Given the description of an element on the screen output the (x, y) to click on. 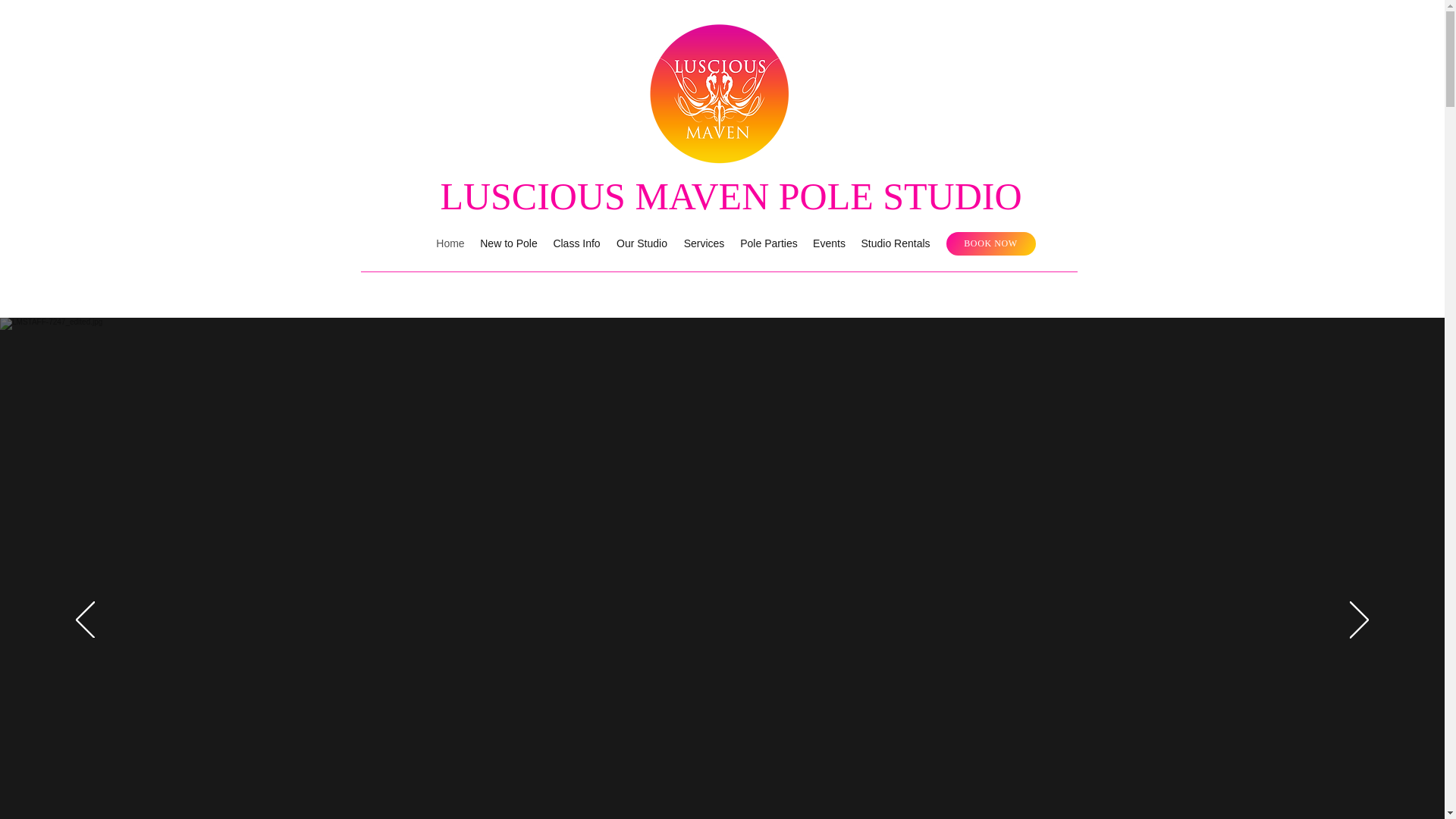
Studio Rentals (895, 243)
Our Studio (641, 243)
BOOK NOW (990, 243)
New to Pole (507, 243)
Pole Parties (768, 243)
Home (449, 243)
Services (703, 243)
Class Info (576, 243)
Events (829, 243)
LUSCIOUS MAVEN POLE STUDIO (730, 196)
